Given the description of an element on the screen output the (x, y) to click on. 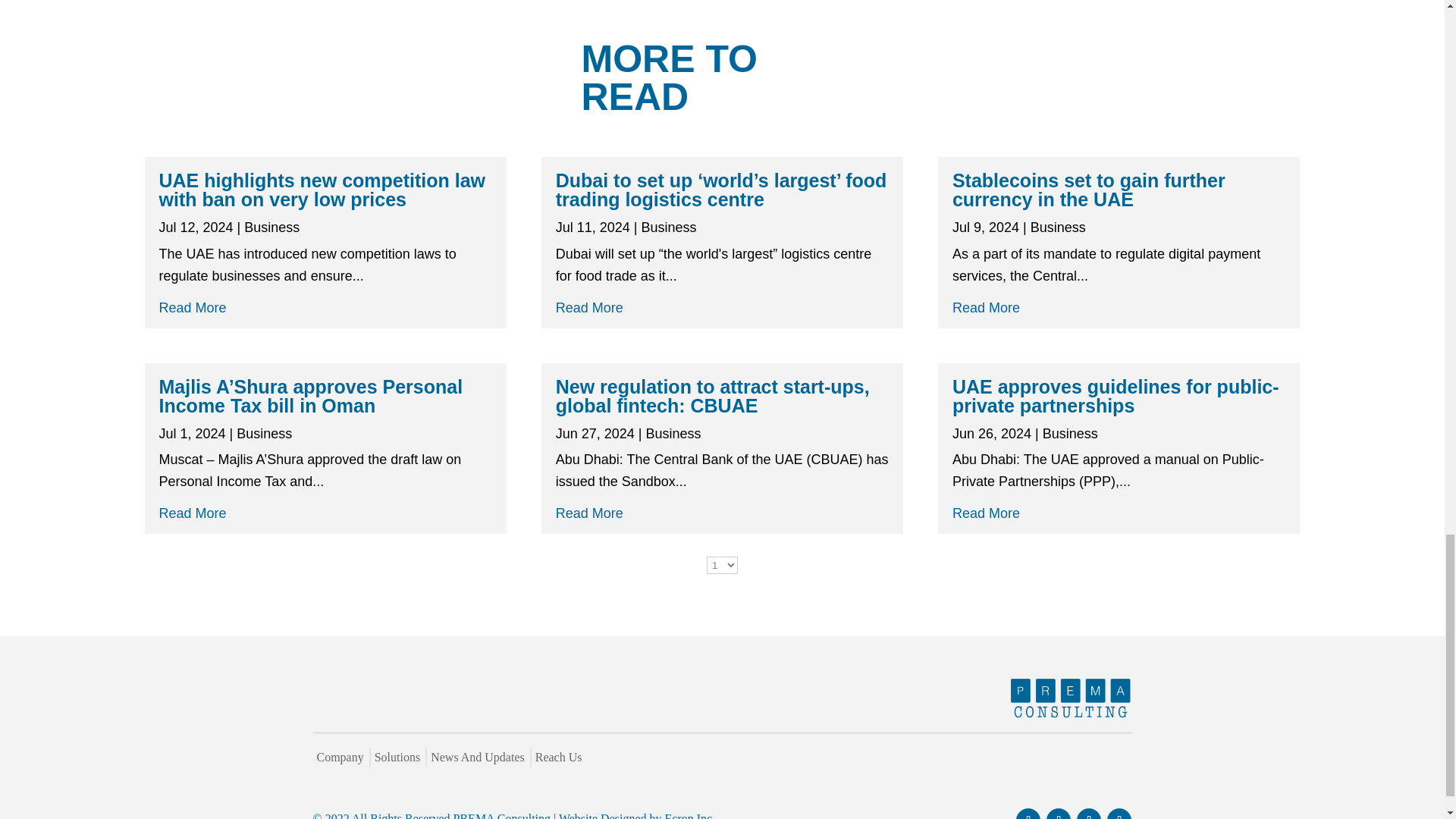
Follow on LinkedIn (1058, 813)
Follow on Facebook (1028, 813)
Follow on X (1118, 813)
Follow on Instagram (1088, 813)
